Given the description of an element on the screen output the (x, y) to click on. 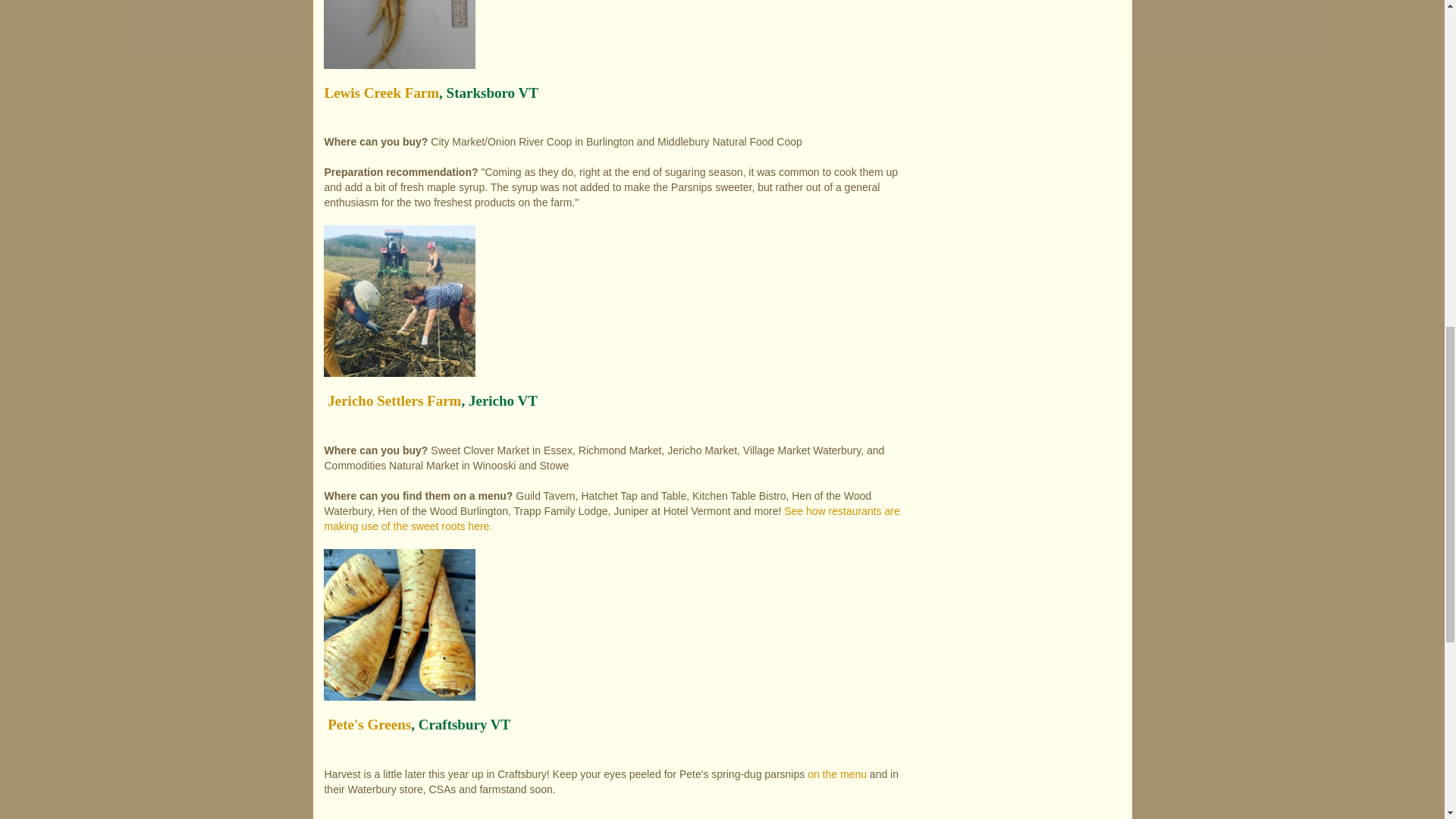
on the menu (837, 774)
Pete's Greens (368, 724)
See how restaurants are making use of the sweet roots here. (611, 518)
Jericho Settlers Farm (394, 400)
Lewis Creek Farm (381, 92)
